Given the description of an element on the screen output the (x, y) to click on. 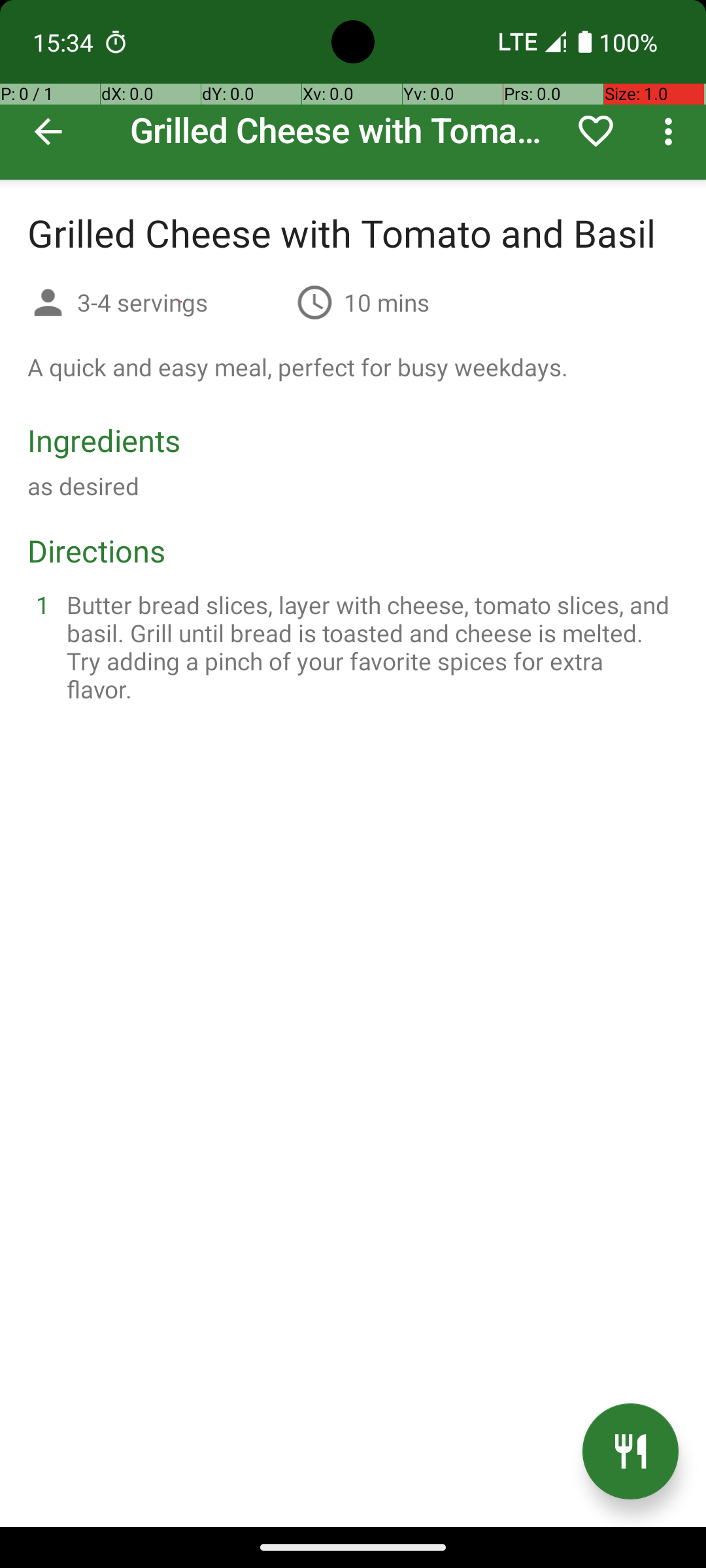
as desired Element type: android.widget.TextView (83, 485)
Butter bread slices, layer with cheese, tomato slices, and basil. Grill until bread is toasted and cheese is melted. Try adding a pinch of your favorite spices for extra flavor. Element type: android.widget.TextView (368, 646)
